Given the description of an element on the screen output the (x, y) to click on. 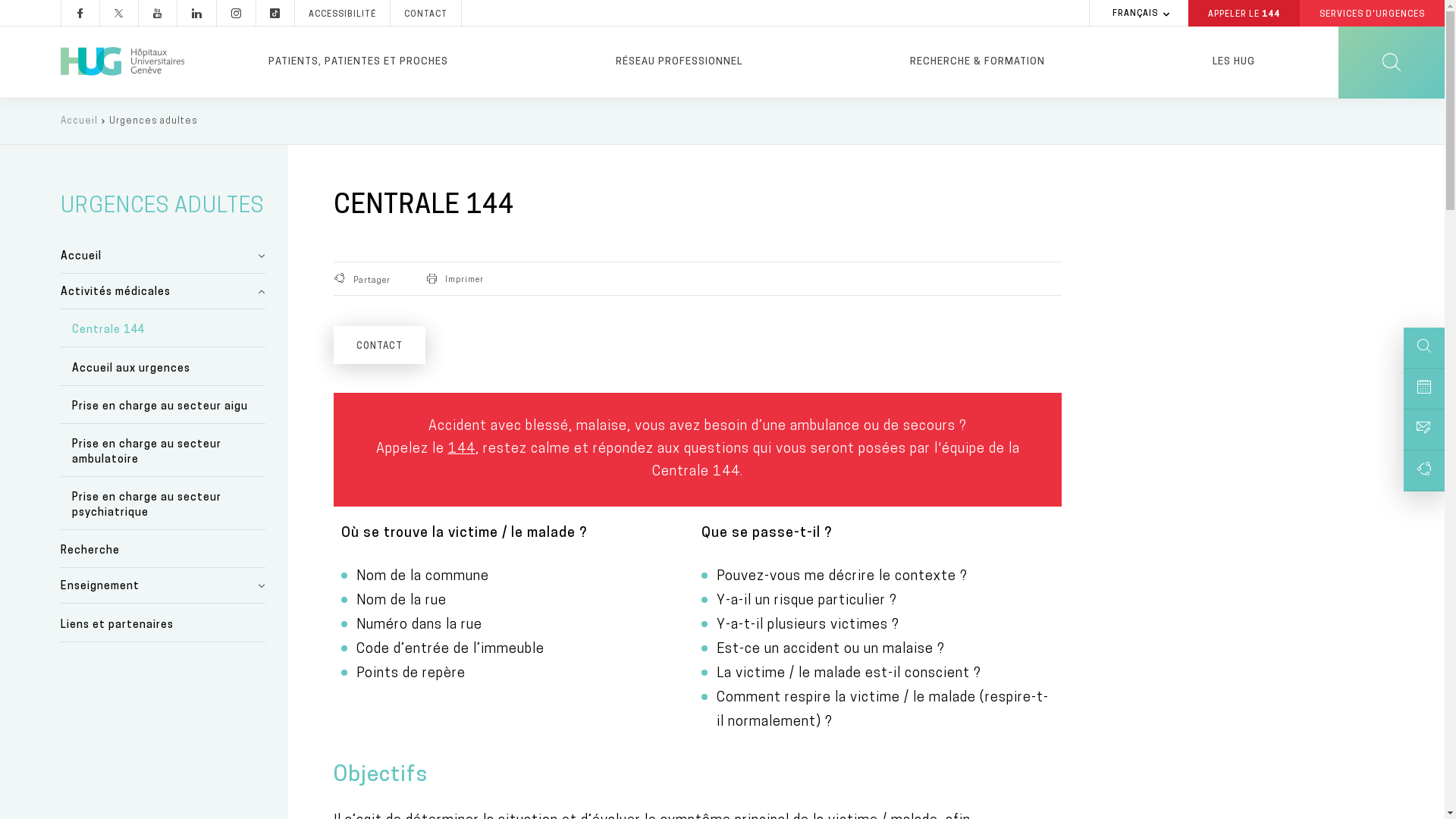
Liens et partenaires Element type: text (162, 624)
Prise en charge au secteur psychiatrique Element type: text (162, 504)
CONTACT Element type: text (379, 345)
Enseignement Element type: text (162, 585)
Recherche Element type: text (162, 549)
Imprimer Element type: text (451, 278)
SERVICES D'URGENCES Element type: text (1371, 13)
PATIENTS, PATIENTES ET PROCHES Element type: text (358, 61)
Accueil Element type: text (78, 120)
Prise en charge au secteur ambulatoire Element type: text (162, 451)
Aller au contenu principal Element type: text (0, 98)
CONTACT Element type: text (425, 13)
Accueil Element type: text (162, 255)
Partager Element type: text (365, 278)
Accueil aux urgences Element type: text (162, 367)
Prise en charge au secteur aigu Element type: text (162, 405)
Accueil Element type: hover (122, 61)
RECHERCHE & FORMATION Element type: text (977, 61)
APPELER LE 144 Element type: text (1243, 13)
Centrale 144 Element type: text (162, 329)
Urgences adultes Element type: text (153, 120)
144 Element type: text (460, 449)
LES HUG Element type: text (1232, 61)
